Given the description of an element on the screen output the (x, y) to click on. 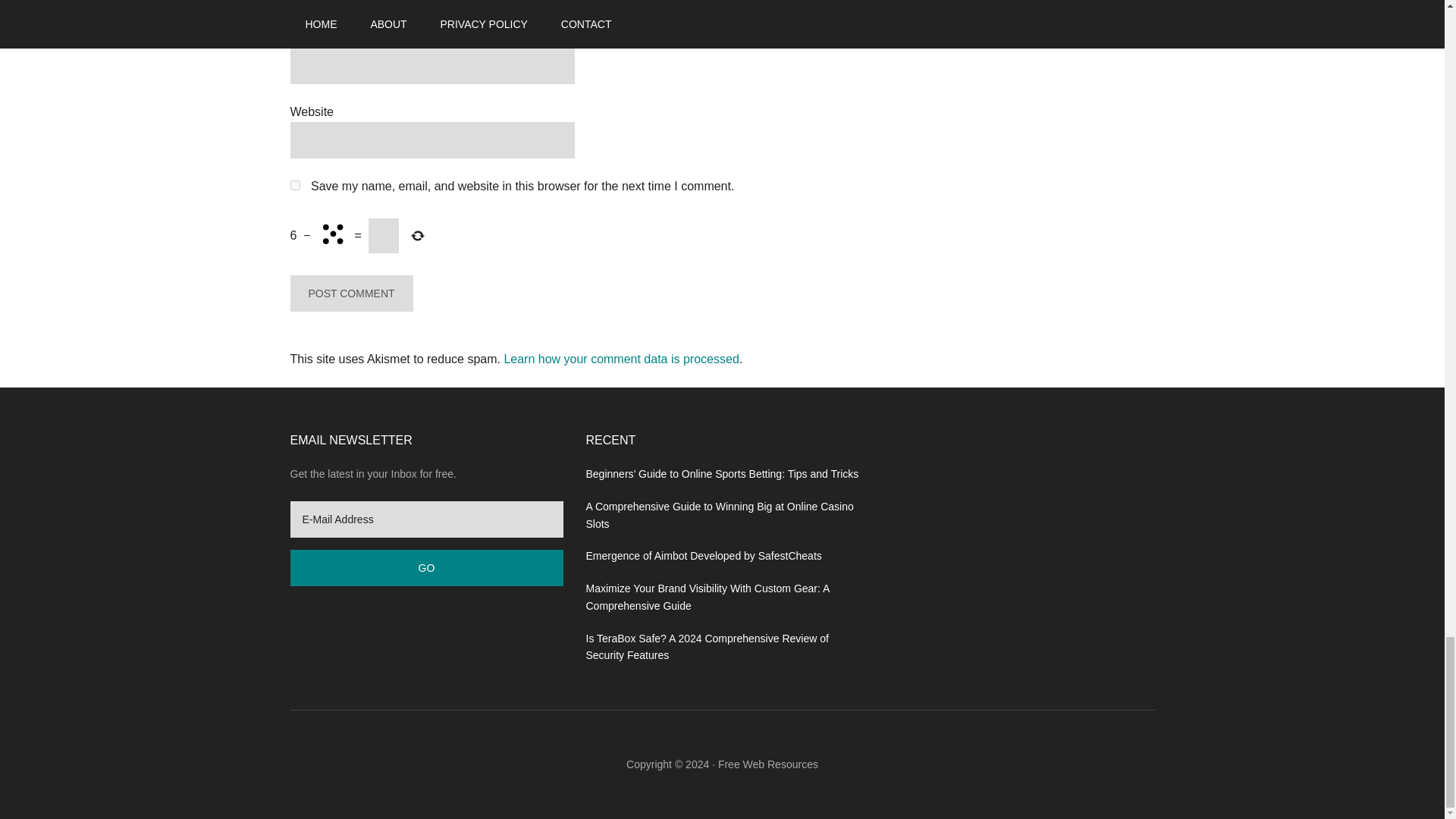
Go (425, 567)
Post Comment (350, 293)
yes (294, 185)
